Given the description of an element on the screen output the (x, y) to click on. 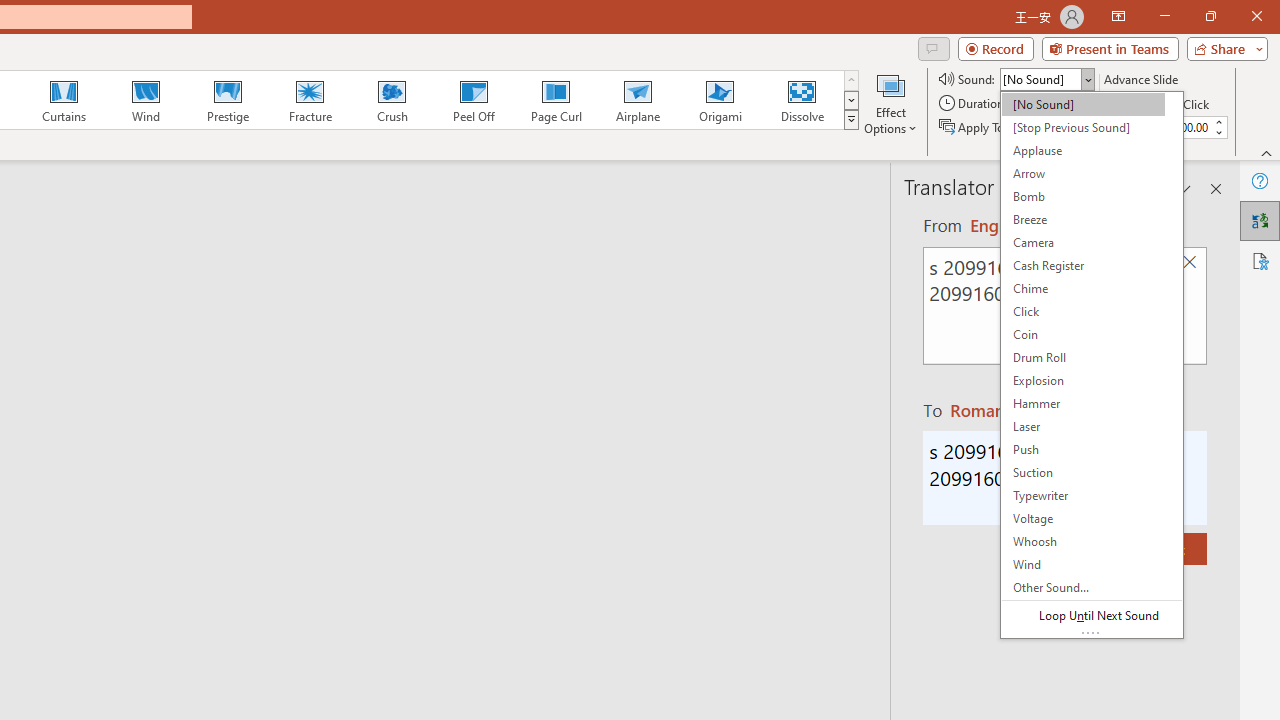
Curtains (63, 100)
Transition Effects (850, 120)
Peel Off (473, 100)
Prestige (227, 100)
Sound: (1091, 364)
Dissolve (802, 100)
Airplane (637, 100)
Wind (145, 100)
Crush (391, 100)
